Given the description of an element on the screen output the (x, y) to click on. 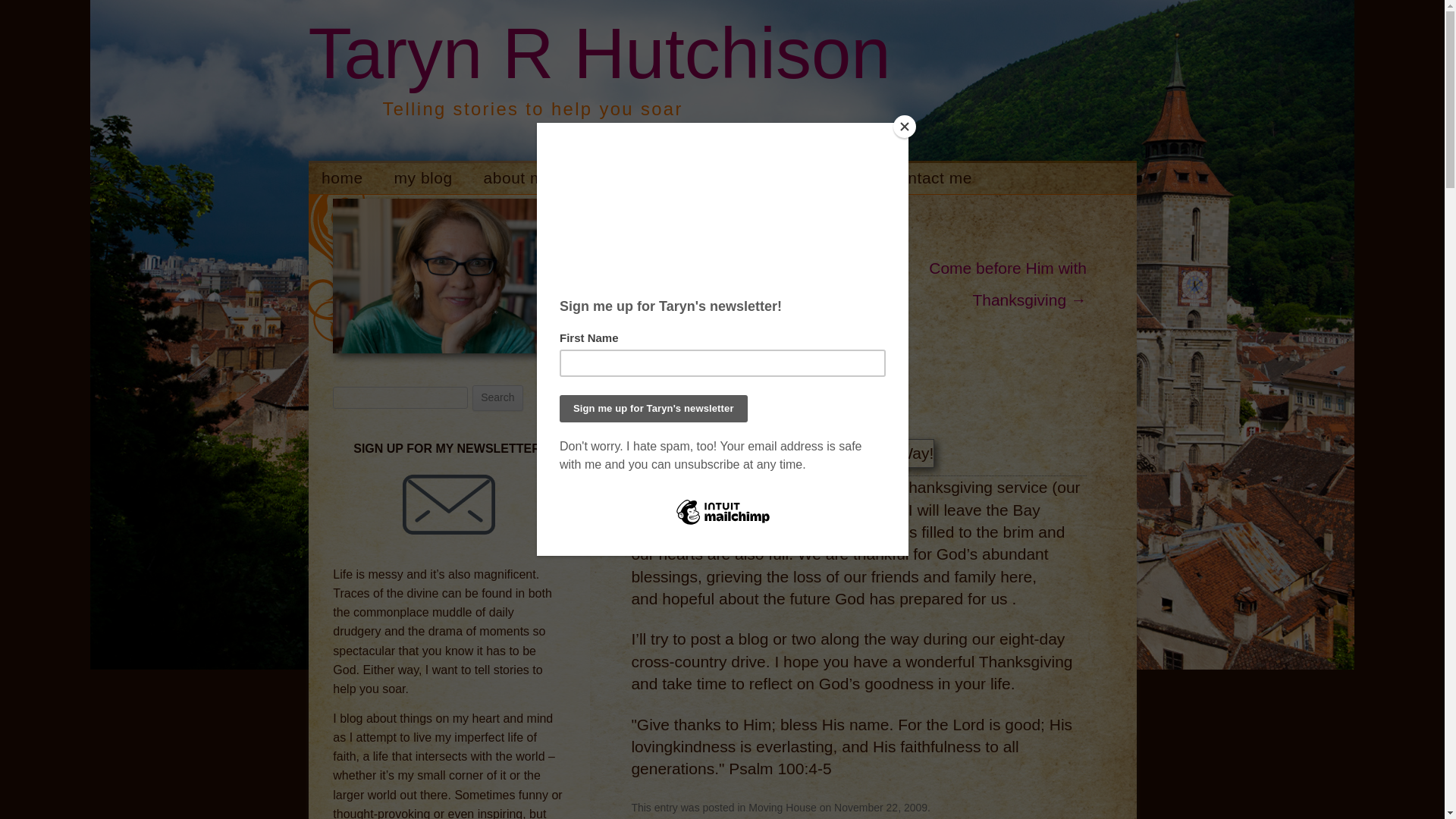
Sign Up for My Newsletter! (448, 504)
home (341, 178)
about me (518, 178)
Skip to content (774, 168)
5:10 pm (880, 807)
November 22, 2009 (880, 807)
Skip to content (774, 168)
2 Replies (652, 402)
Taryn R Hutchison (598, 53)
Moving House (782, 807)
Search (496, 397)
contact me (931, 178)
Search (496, 397)
my blog (422, 178)
Taryn R Hutchison (598, 53)
